Given the description of an element on the screen output the (x, y) to click on. 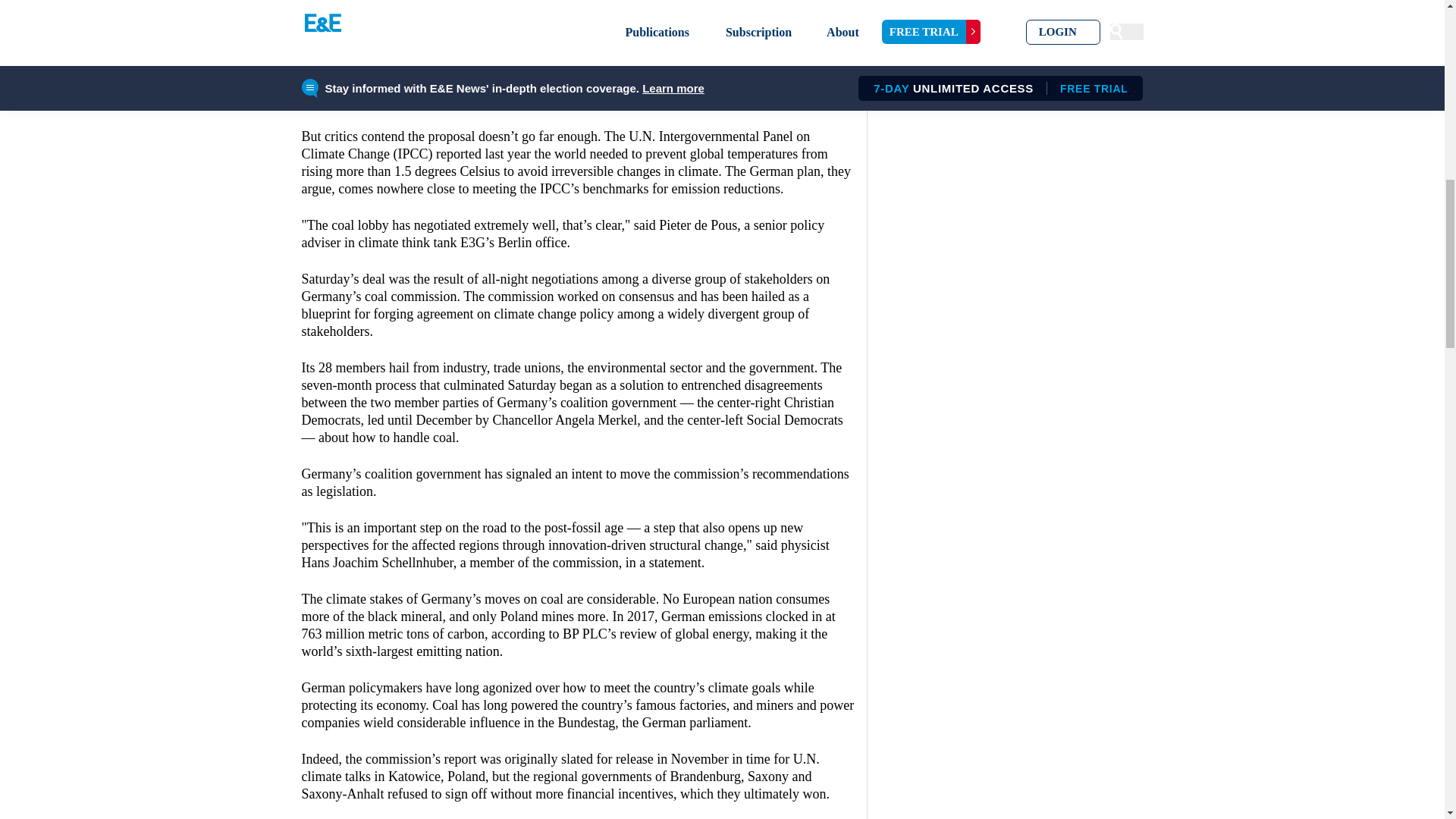
3rd party ad content (577, 10)
